Given the description of an element on the screen output the (x, y) to click on. 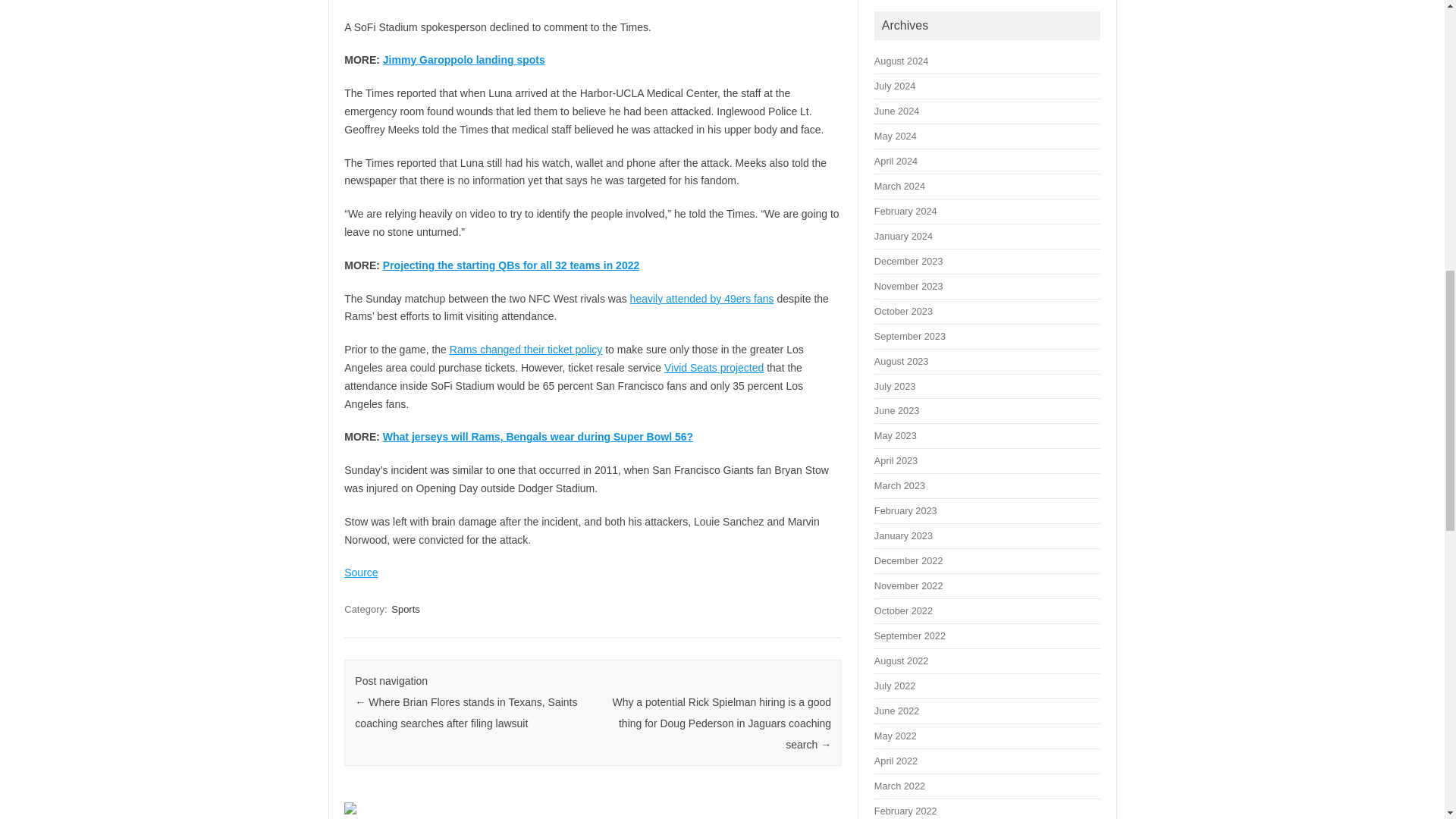
April 2024 (896, 161)
Projecting the starting QBs for all 32 teams in 2022 (510, 265)
July 2024 (895, 85)
Rams changed their ticket policy (525, 349)
August 2024 (901, 60)
Source (360, 572)
Jimmy Garoppolo landing spots (463, 60)
June 2024 (896, 111)
heavily attended by 49ers fans (702, 298)
Sports (406, 608)
May 2024 (896, 135)
February 2024 (906, 211)
What jerseys will Rams, Bengals wear during Super Bowl 56? (537, 436)
Vivid Seats projected (712, 367)
March 2024 (899, 185)
